Given the description of an element on the screen output the (x, y) to click on. 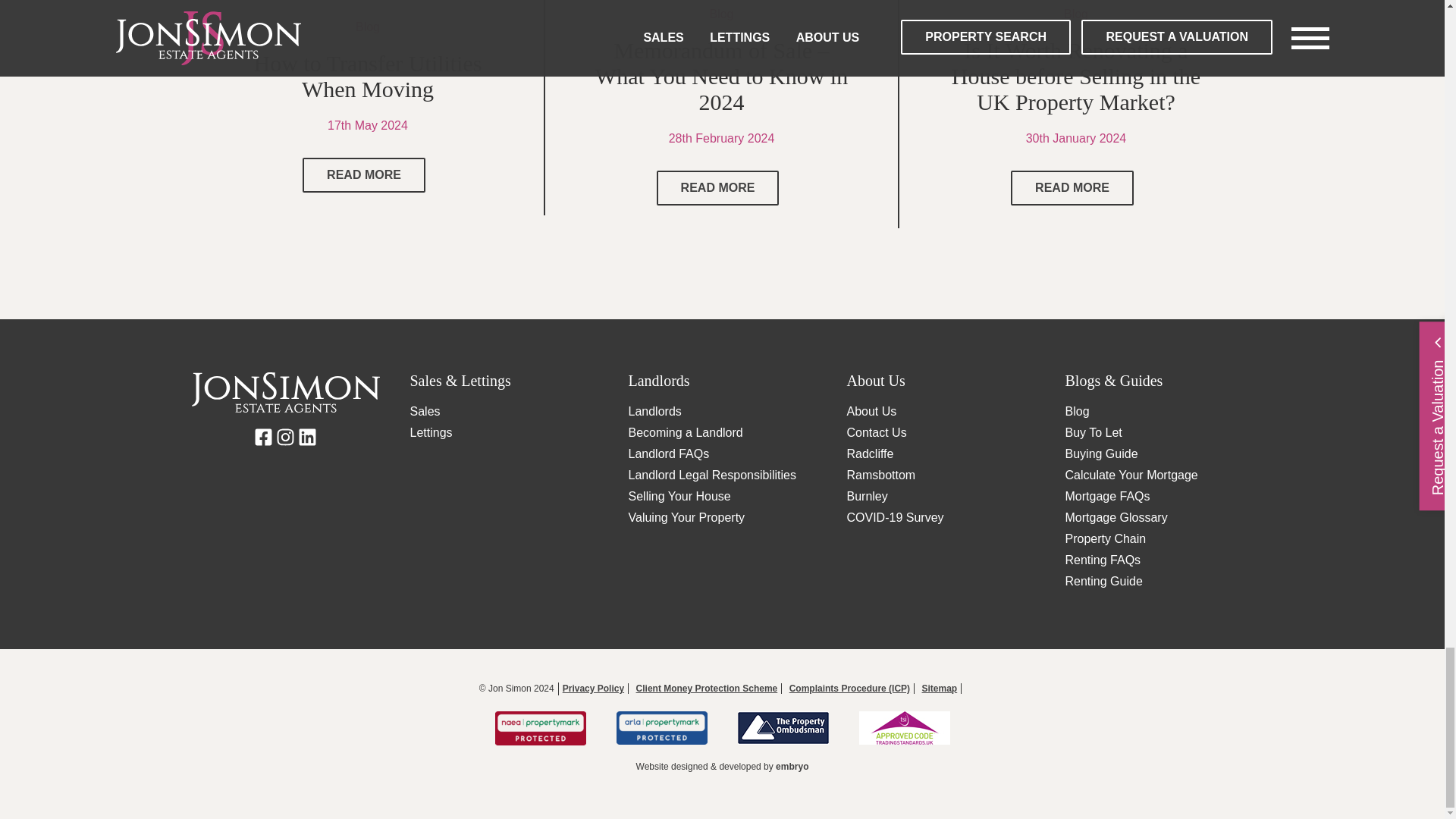
How to Transfer Utilities When Moving (363, 175)
